Given the description of an element on the screen output the (x, y) to click on. 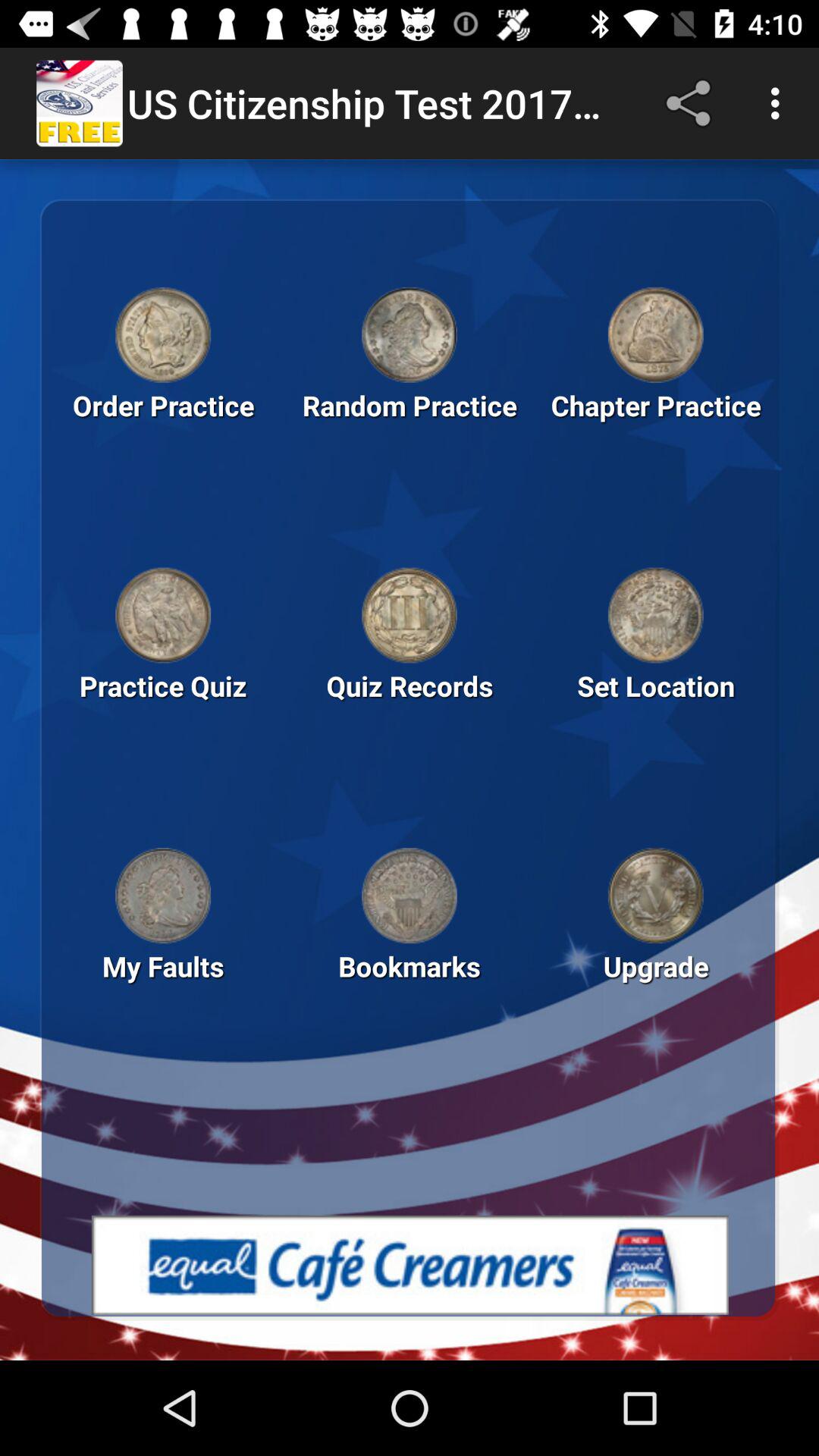
advertisement (409, 1264)
